Given the description of an element on the screen output the (x, y) to click on. 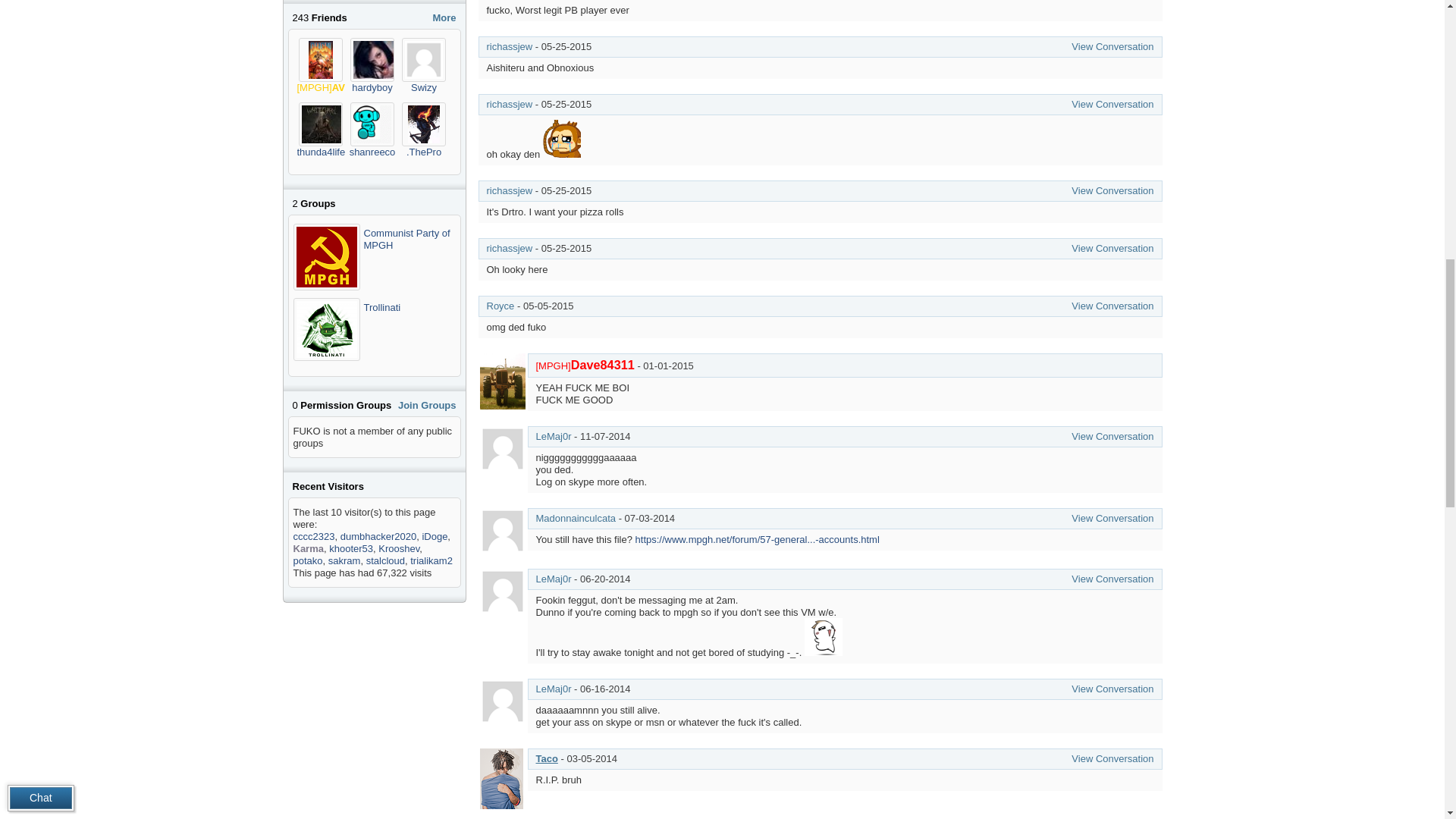
hardyboy (371, 87)
hardyboy (381, 59)
thunda4life (321, 152)
Swizy (423, 87)
AVGN (328, 87)
thunda4life (320, 124)
Swizy (423, 59)
shanreeco (372, 124)
shanreeco (372, 152)
